Given the description of an element on the screen output the (x, y) to click on. 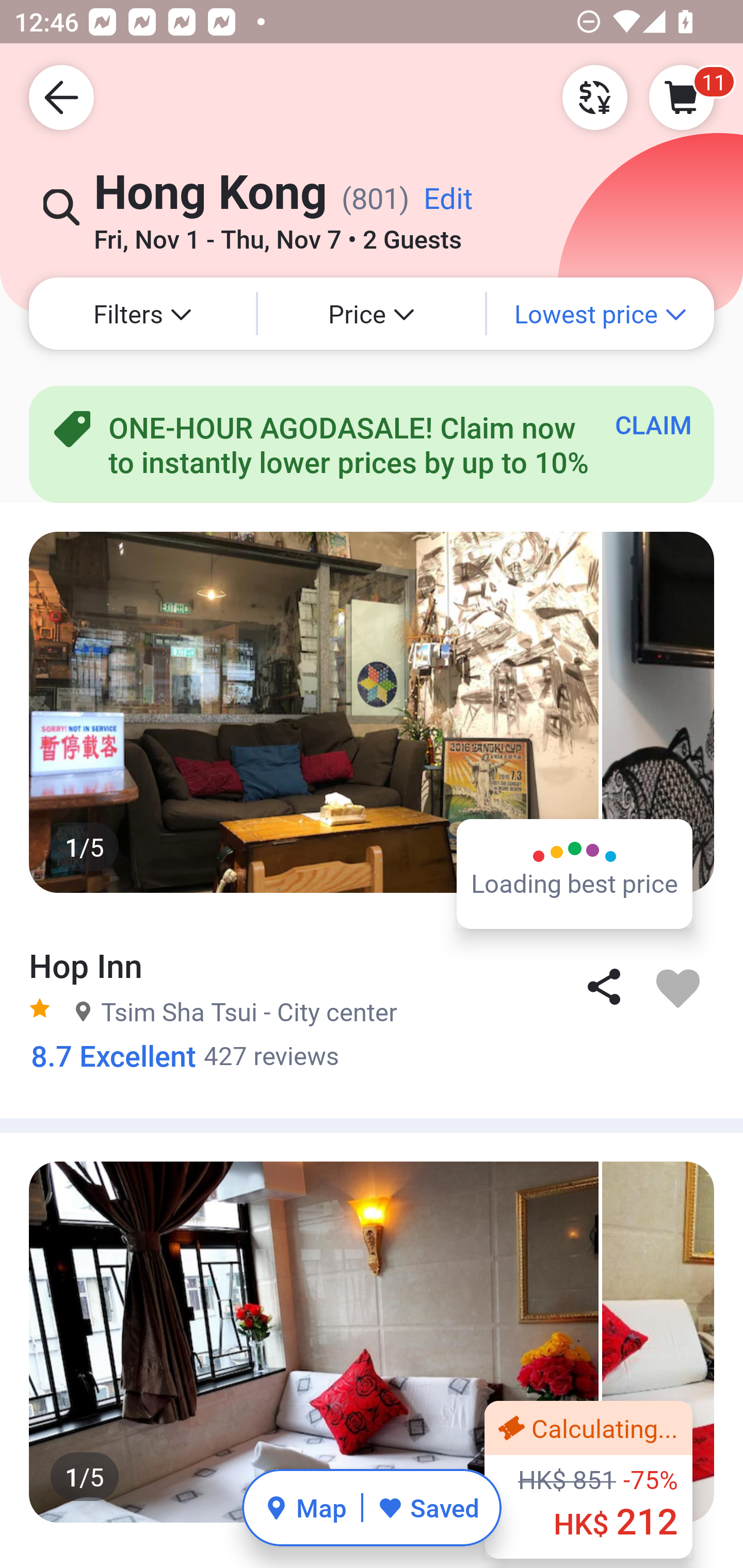
Edit (447, 205)
Fri, Nov 1 - Thu, Nov 7 • 2 Guests (277, 232)
Filters (141, 313)
Price (371, 313)
Lowest price (600, 313)
CLAIM (653, 424)
1/5 (371, 711)
Loading best price (574, 873)
1/5 (371, 1341)
Calculating... ‪HK$ 851 -75% ‪HK$ 212 (588, 1479)
Map (305, 1507)
Saved (428, 1507)
